Given the description of an element on the screen output the (x, y) to click on. 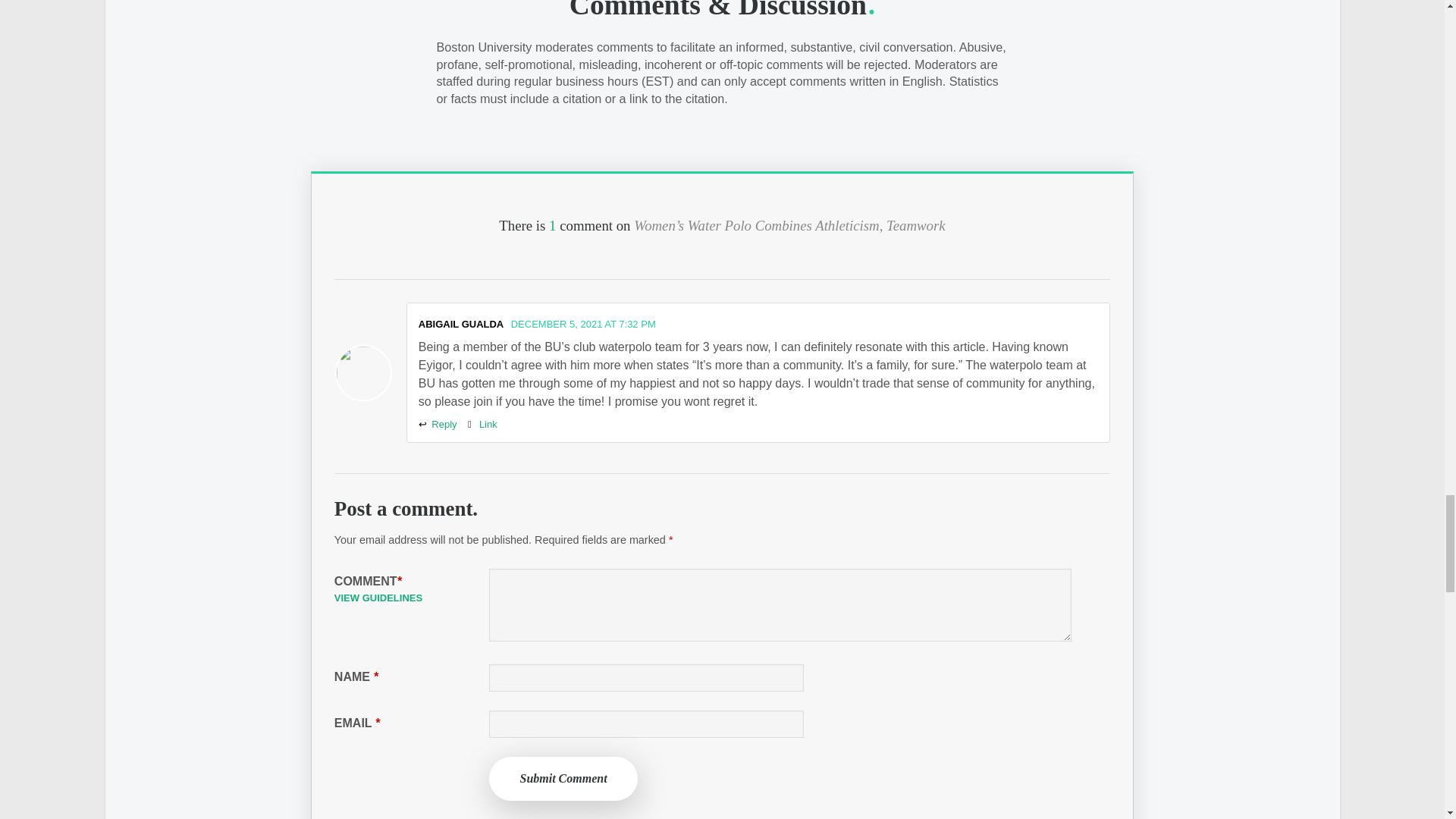
VIEW GUIDELINES (378, 597)
Link (482, 423)
Submit Comment (563, 778)
Reply (438, 423)
DECEMBER 5, 2021 AT 7:32 PM (583, 324)
